Given the description of an element on the screen output the (x, y) to click on. 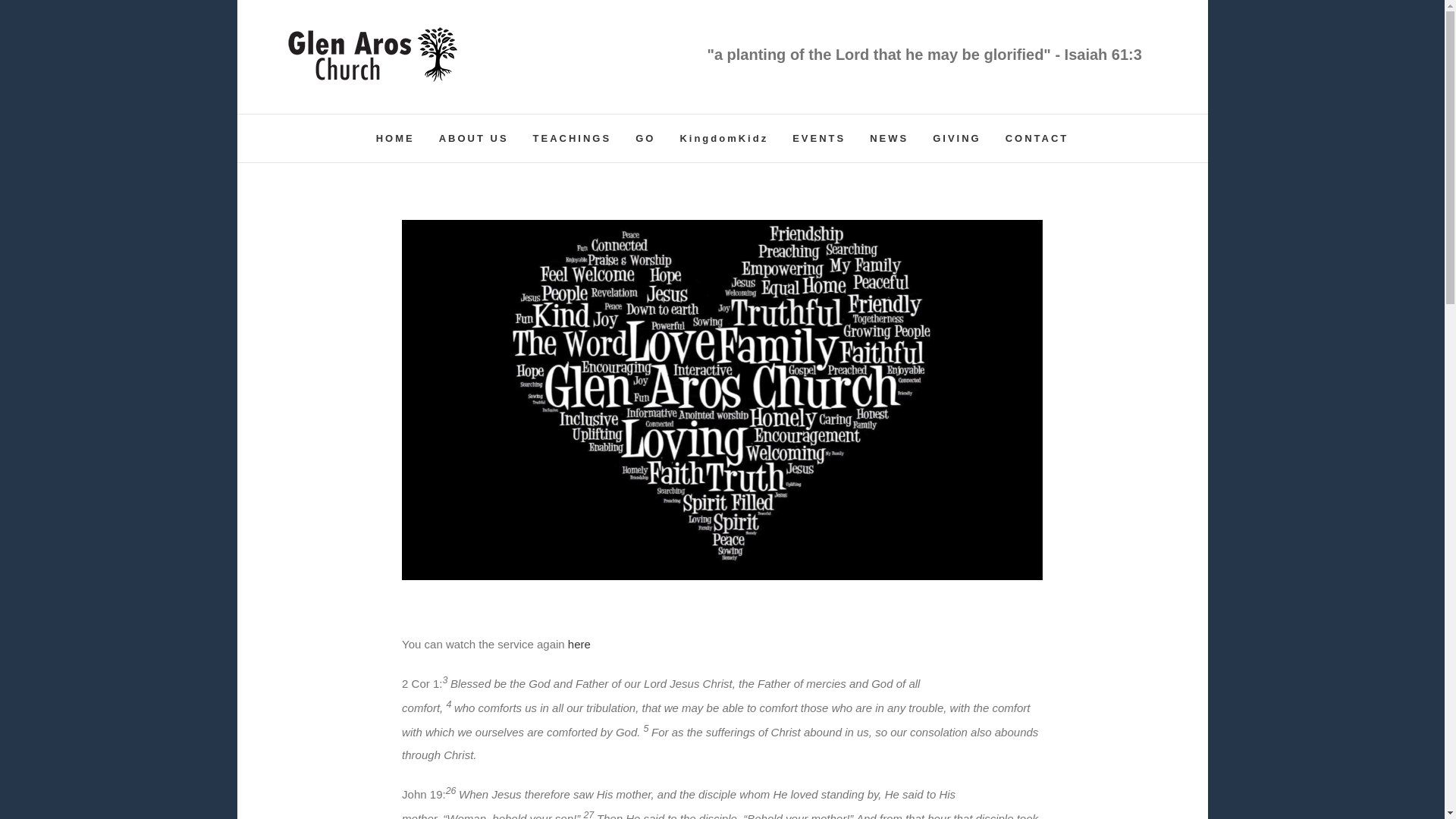
TEACHINGS (571, 138)
CONTACT (1037, 138)
ABOUT US (473, 138)
KingdomKidz (723, 138)
here (579, 644)
EVENTS (818, 138)
GIVING (957, 138)
